Given the description of an element on the screen output the (x, y) to click on. 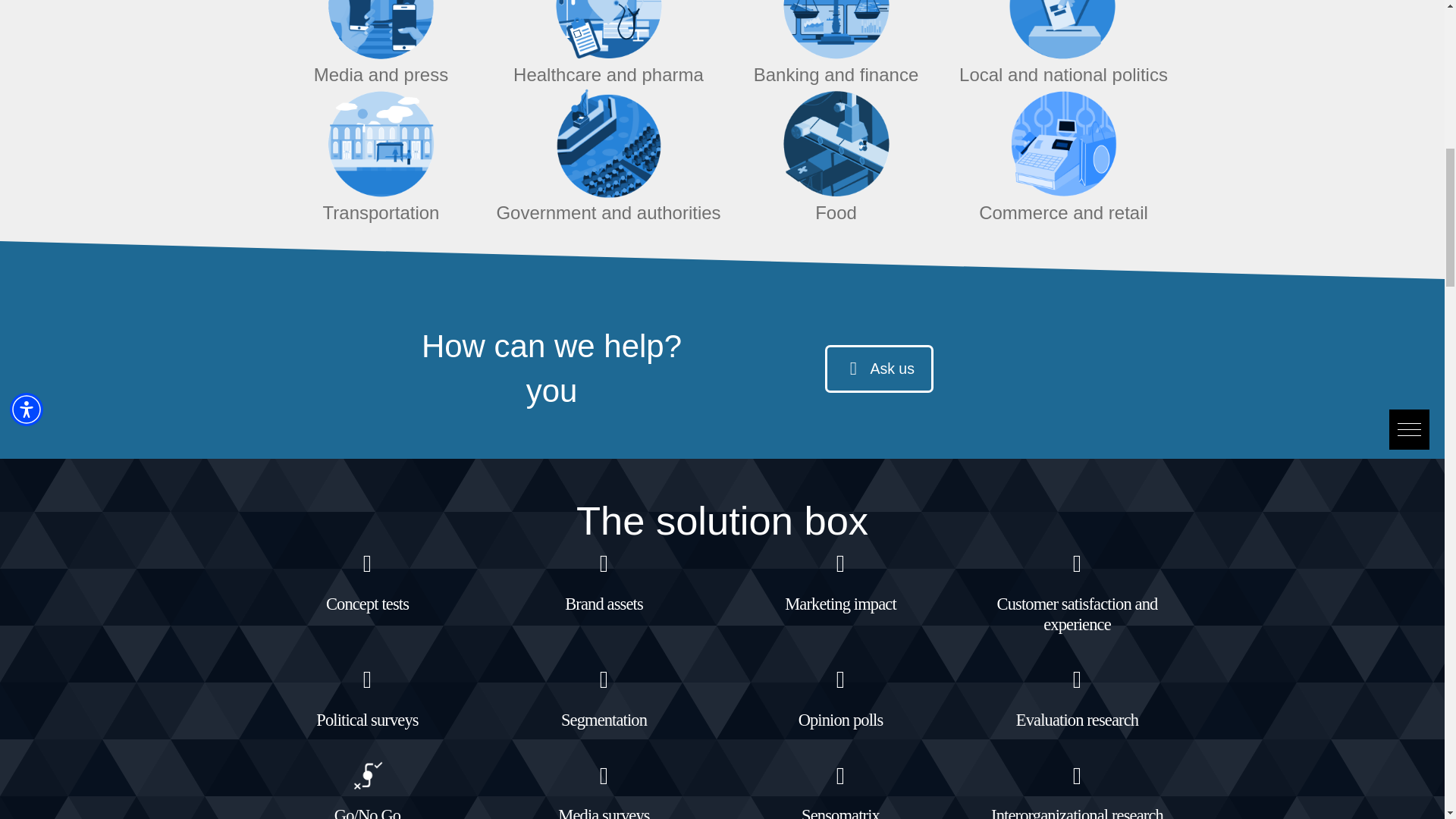
Ask us (879, 368)
